Given the description of an element on the screen output the (x, y) to click on. 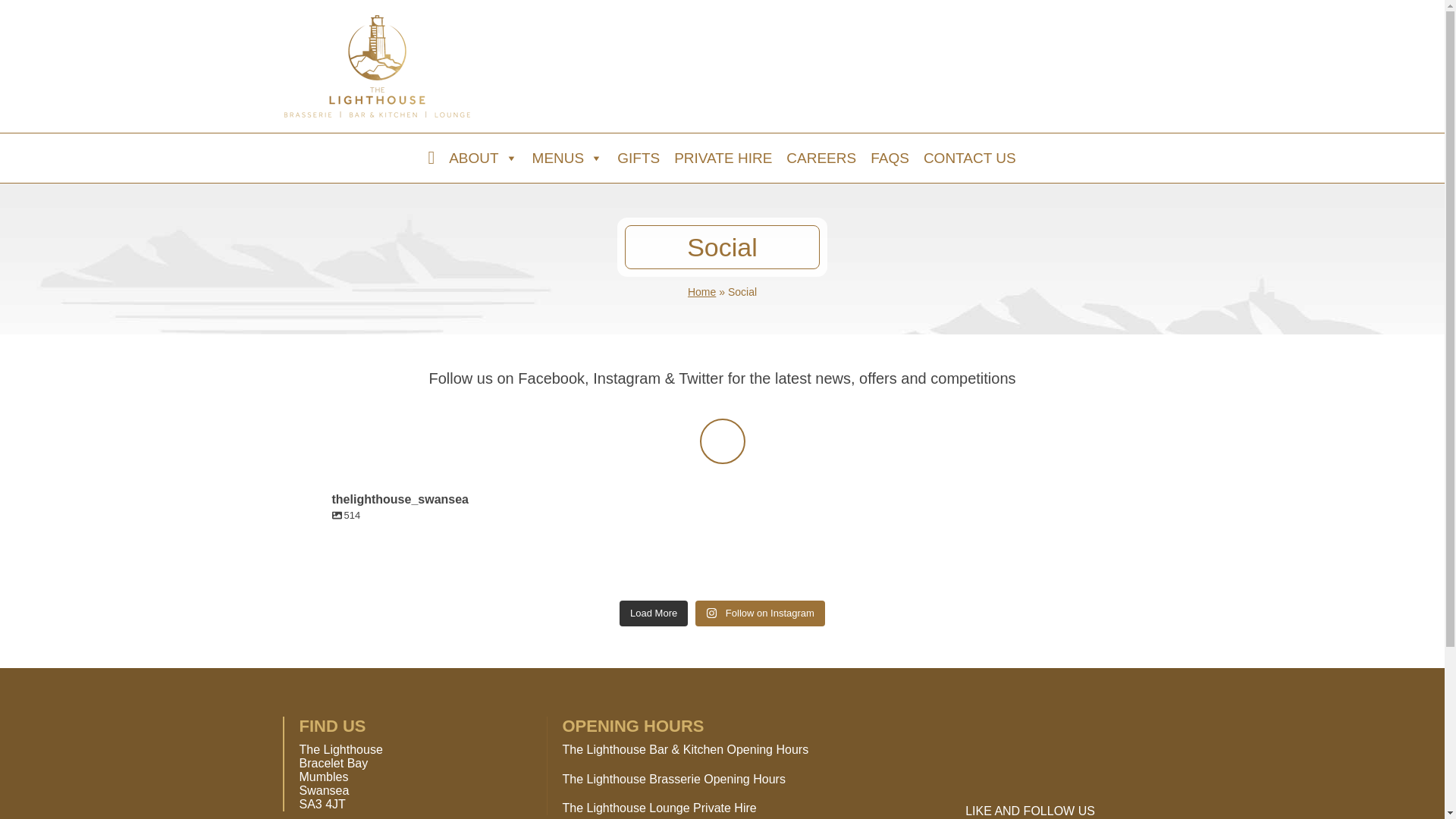
MENUS (567, 157)
The Secret Hospitality Group (1047, 66)
ABOUT (483, 157)
About The Lighthouse (483, 157)
GIFTS (638, 157)
The Lighthouse Swansea (376, 66)
Contact Us (970, 157)
PRIVATE HIRE (722, 157)
CONTACT US (970, 157)
The Lighthouse Swansea (376, 66)
